Given the description of an element on the screen output the (x, y) to click on. 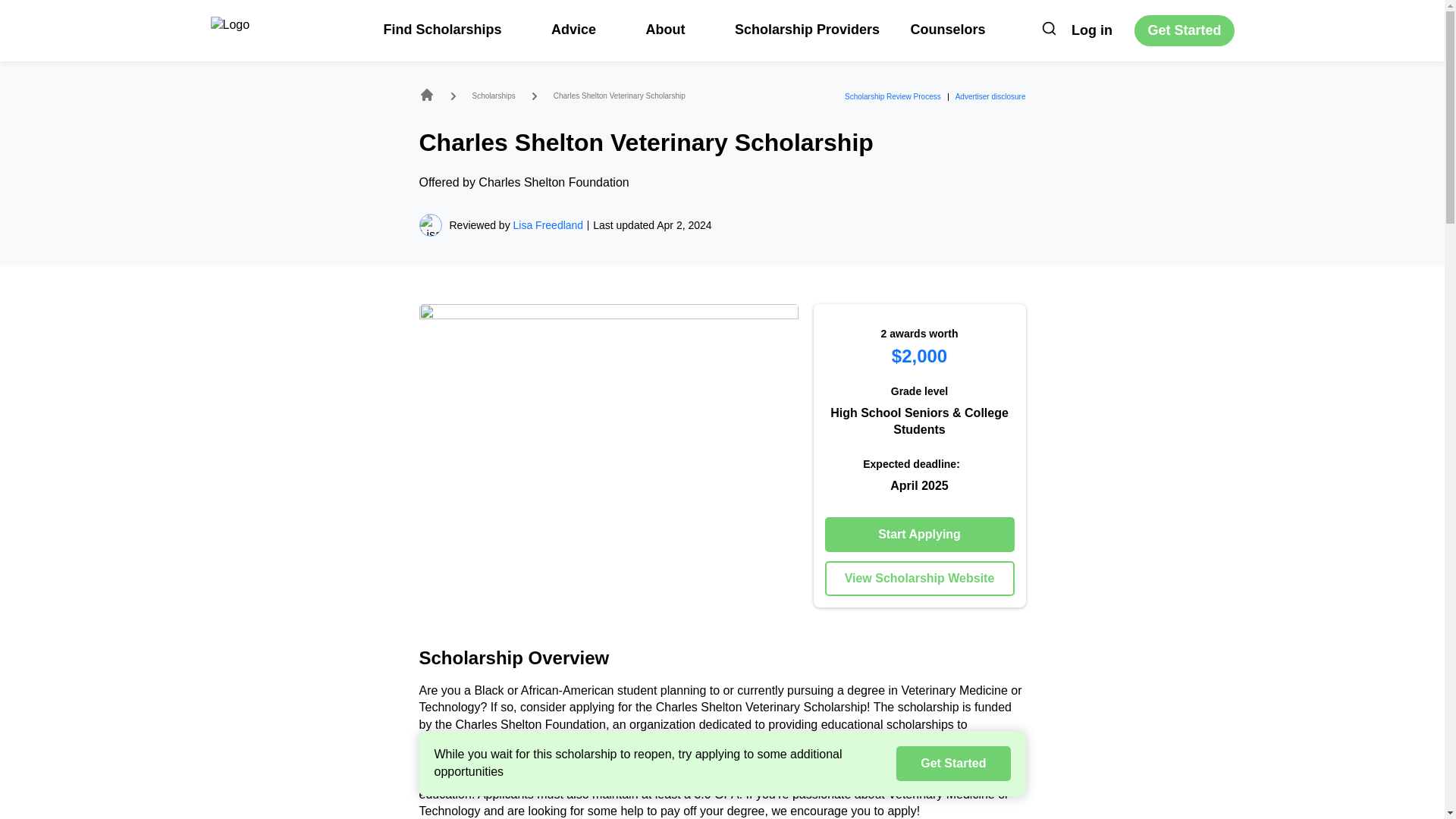
Counselors (947, 29)
Advice (582, 29)
Scholarship Providers (807, 29)
Log in (1091, 30)
Find Scholarships (452, 29)
Get Started (1183, 30)
About (674, 29)
